Given the description of an element on the screen output the (x, y) to click on. 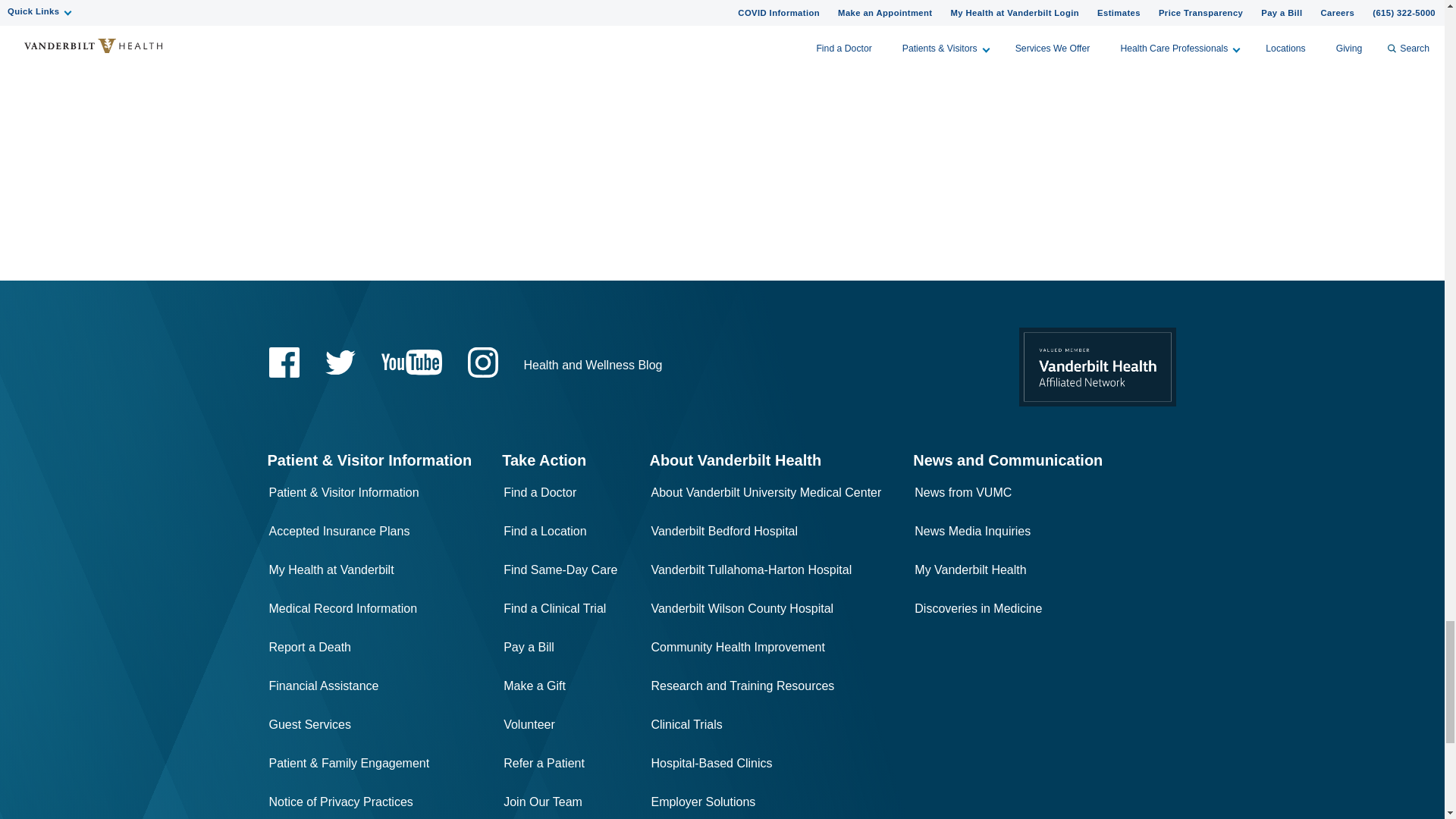
instagram icon (482, 362)
youtube icon (410, 362)
twitter icon (339, 362)
facebook icon (282, 362)
